Given the description of an element on the screen output the (x, y) to click on. 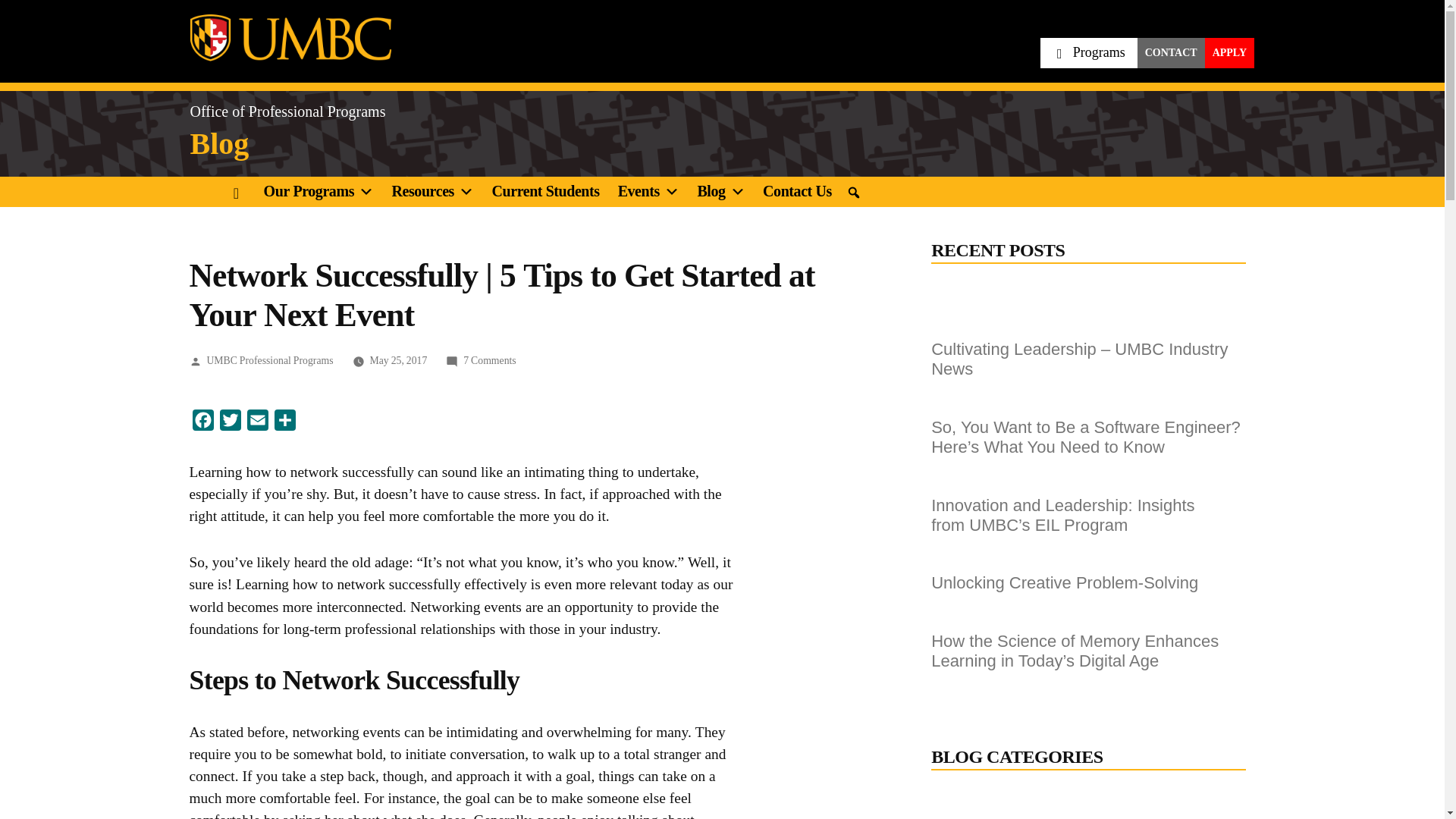
Twitter (230, 423)
APPLY (1229, 52)
Programs (1089, 52)
Blog (218, 144)
Email (257, 423)
Facebook (202, 423)
CONTACT (1171, 52)
Office of Professional Programs (287, 111)
Our Programs (320, 191)
